Given the description of an element on the screen output the (x, y) to click on. 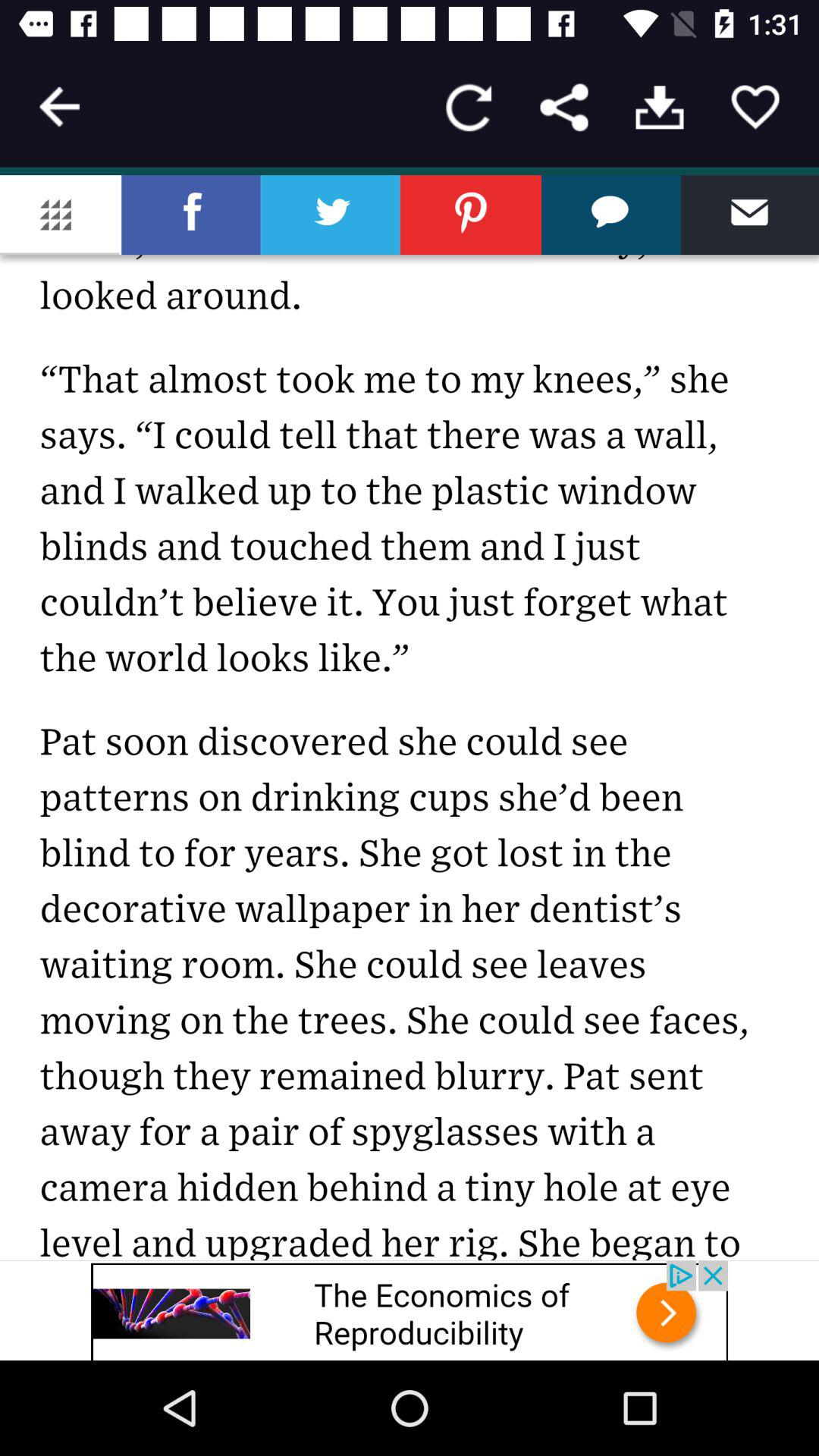
advertisement bar (409, 1310)
